Given the description of an element on the screen output the (x, y) to click on. 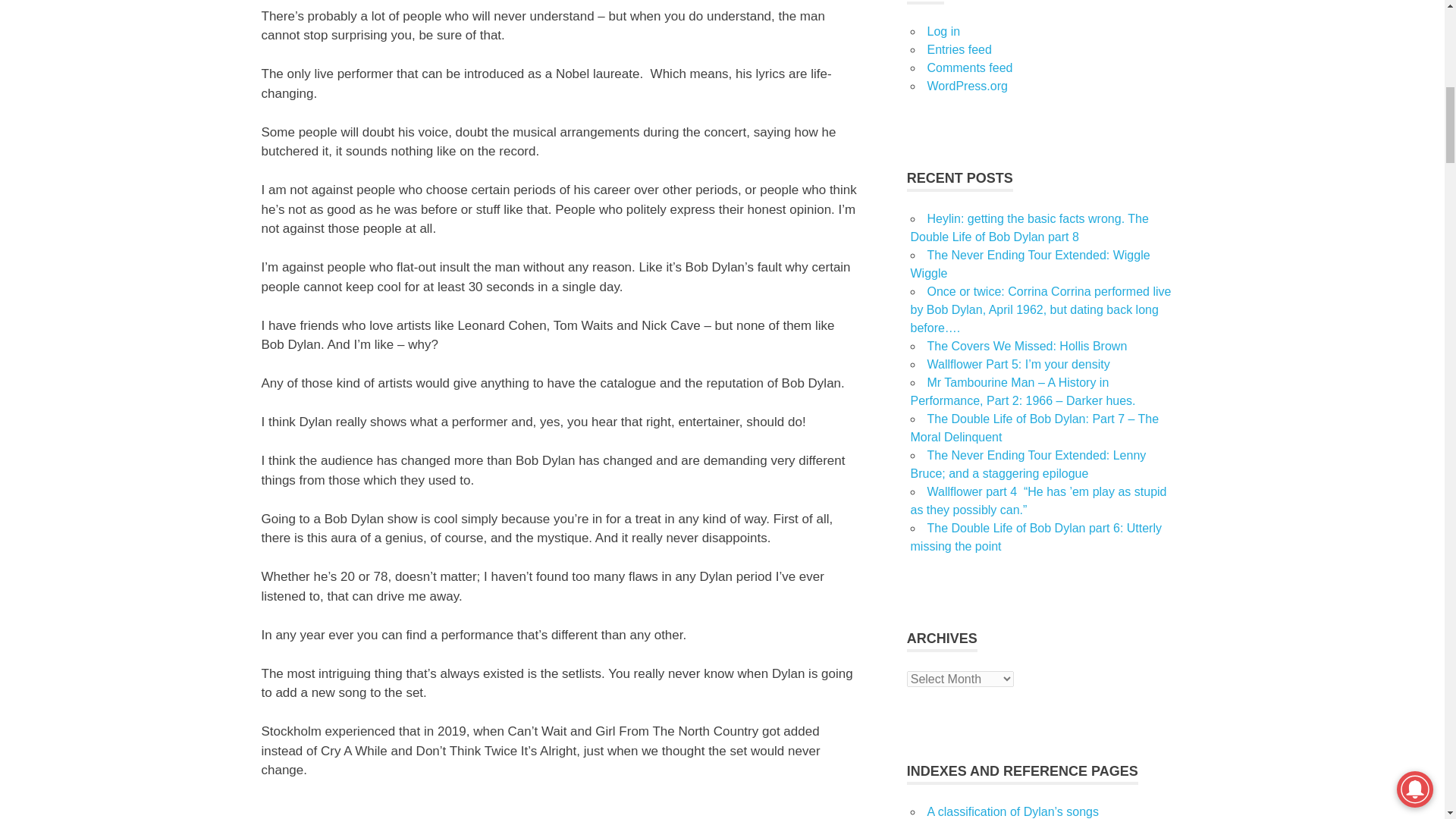
WordPress.org (966, 85)
Log in (942, 31)
Comments feed (968, 67)
The Covers We Missed: Hollis Brown (1026, 345)
The Never Ending Tour Extended: Wiggle Wiggle (1030, 264)
Entries feed (958, 49)
